Given the description of an element on the screen output the (x, y) to click on. 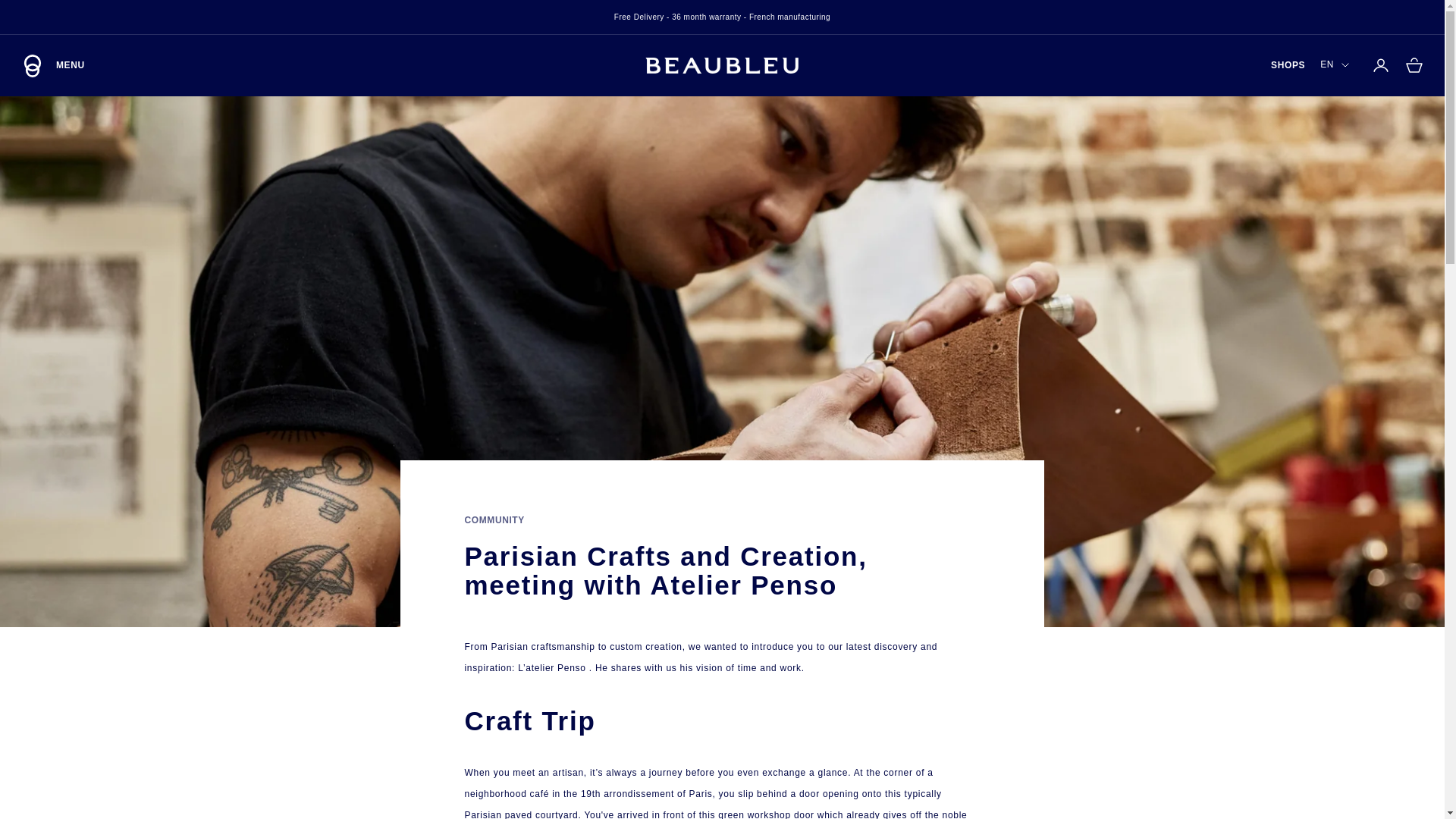
SHOPS (1287, 64)
Open account page (1380, 65)
Open cart (1414, 65)
EN (52, 65)
Beaubleu (1334, 65)
